Given the description of an element on the screen output the (x, y) to click on. 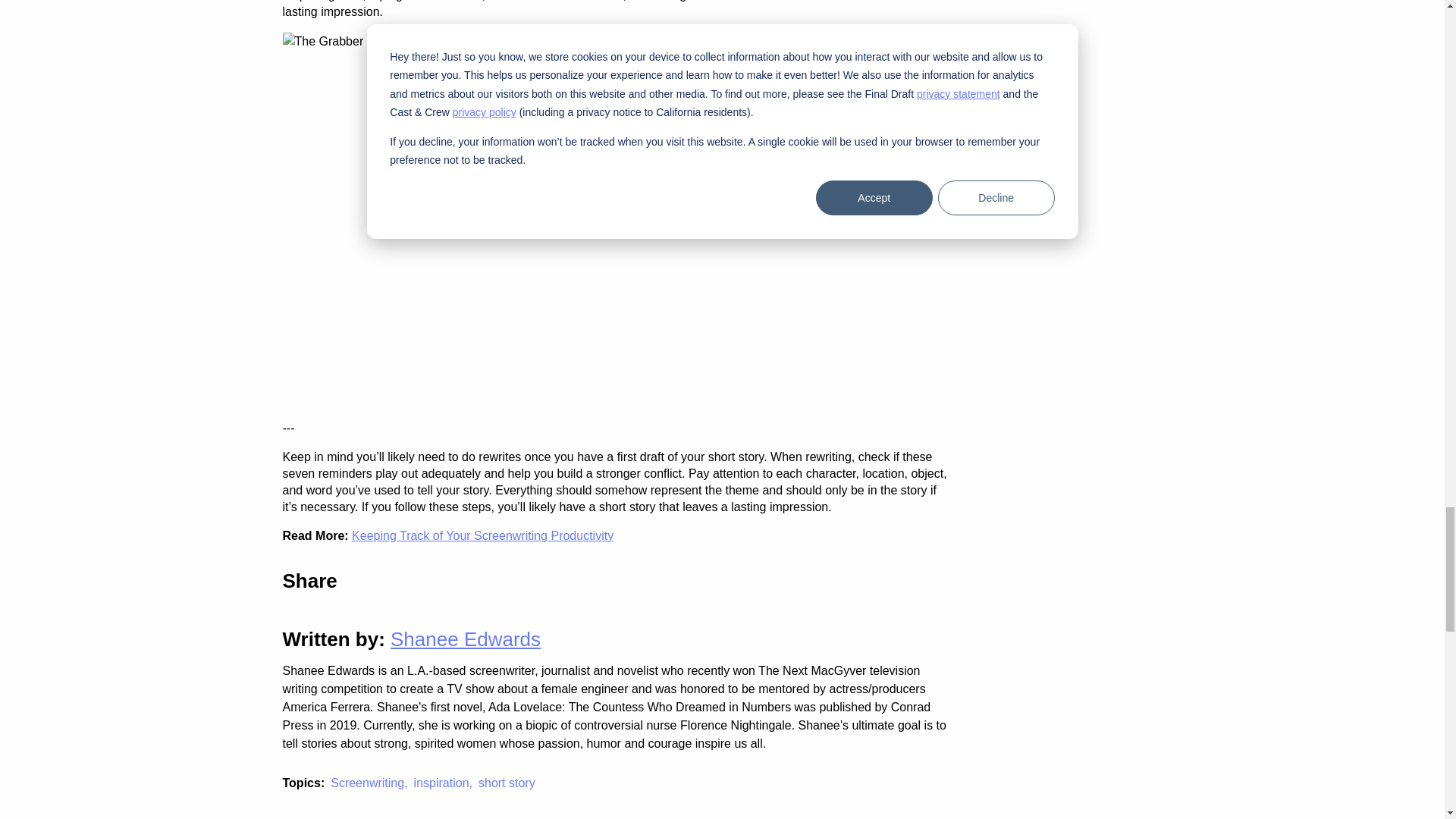
inspiration (446, 786)
Screenwriting (371, 786)
Keeping Track of Your Screenwriting Productivity (482, 535)
short story (510, 786)
Shanee Edwards (465, 639)
